Given the description of an element on the screen output the (x, y) to click on. 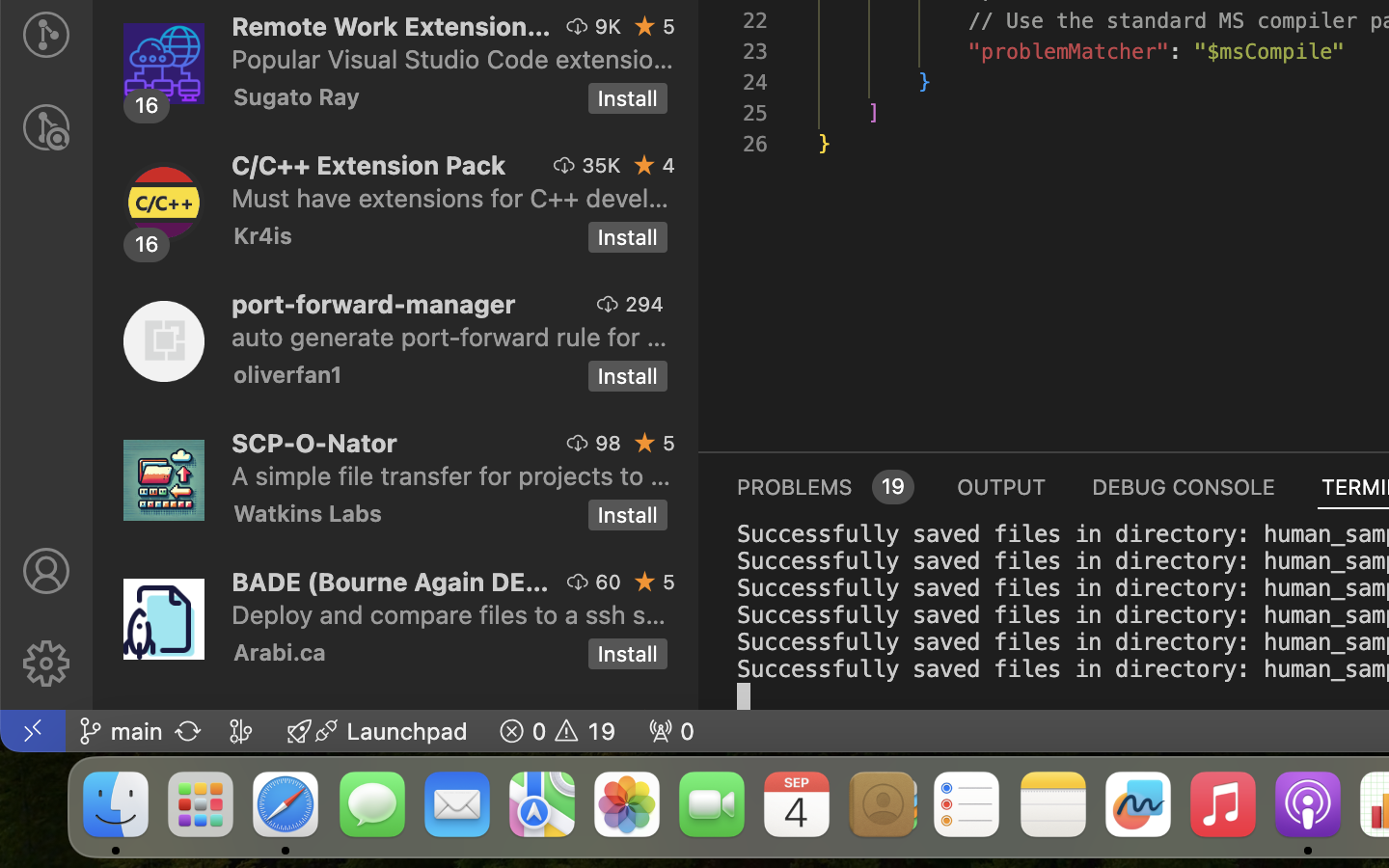
 Element type: AXGroup (46, 127)
0 OUTPUT Element type: AXRadioButton (1001, 485)
0 DEBUG CONSOLE Element type: AXRadioButton (1183, 485)
19 0   Element type: AXButton (557, 730)
 Element type: AXStaticText (644, 164)
